Given the description of an element on the screen output the (x, y) to click on. 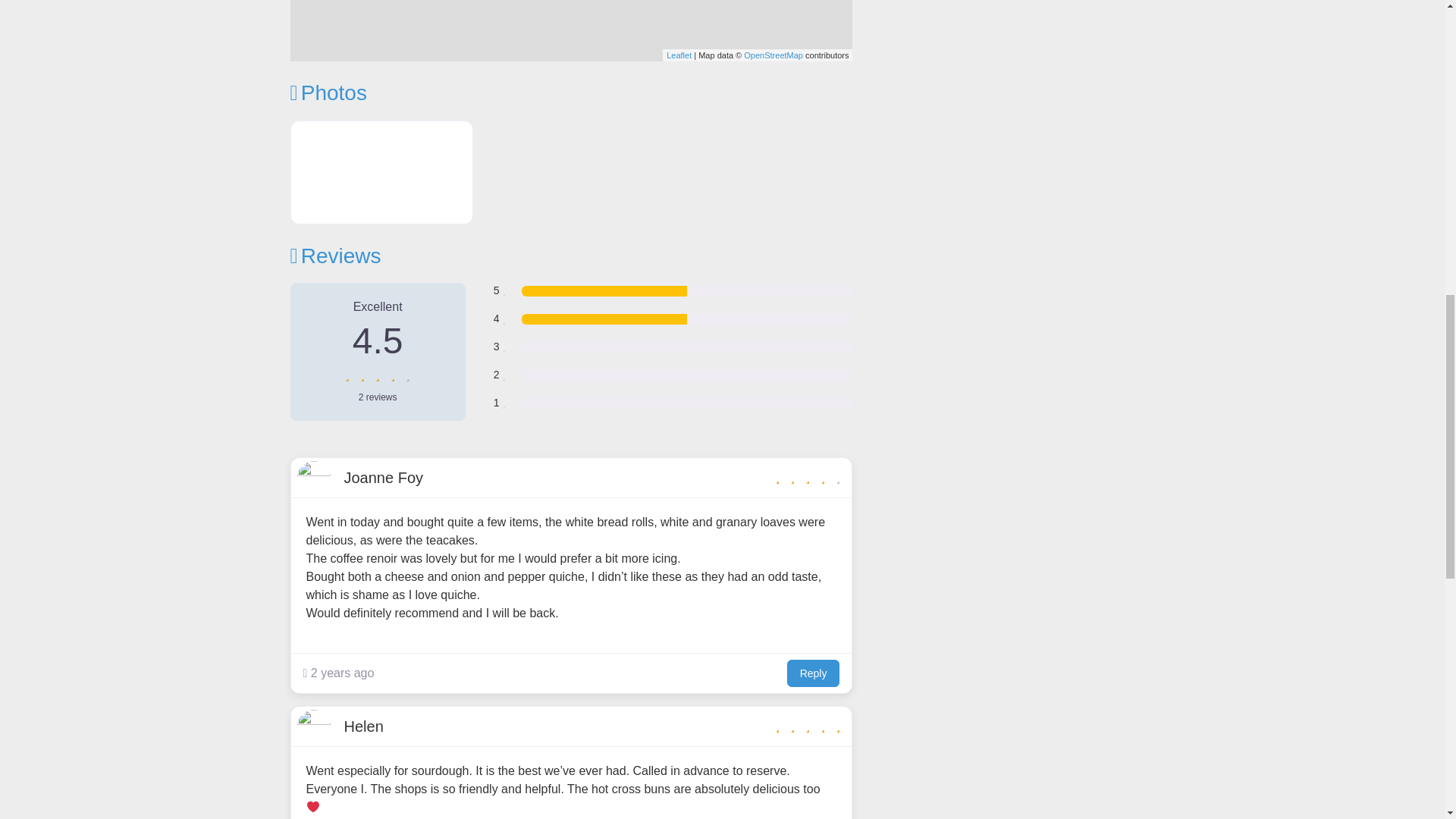
4 star rating (807, 477)
A JS library for interactive maps (678, 54)
Photos (327, 92)
Leaflet (678, 54)
Reviews (334, 255)
4 star rating (376, 375)
Reply (813, 673)
OpenStreetMap (773, 54)
5 star rating (807, 726)
2 years ago (338, 673)
